Given the description of an element on the screen output the (x, y) to click on. 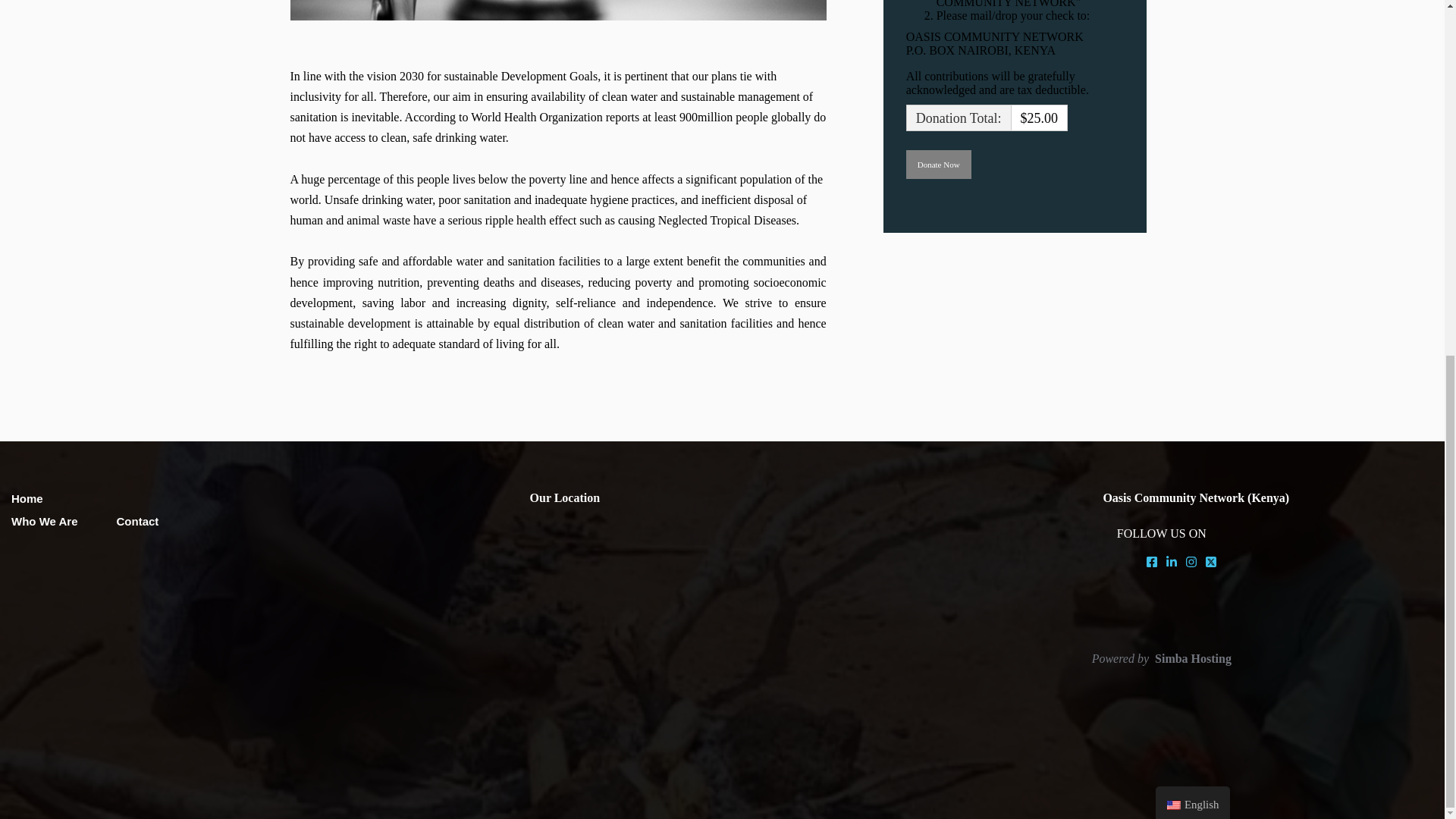
Home (27, 498)
Who We Are (44, 521)
Contact (137, 521)
English (1193, 178)
Donate Now (938, 164)
Donate Now (938, 164)
English (1173, 180)
